Given the description of an element on the screen output the (x, y) to click on. 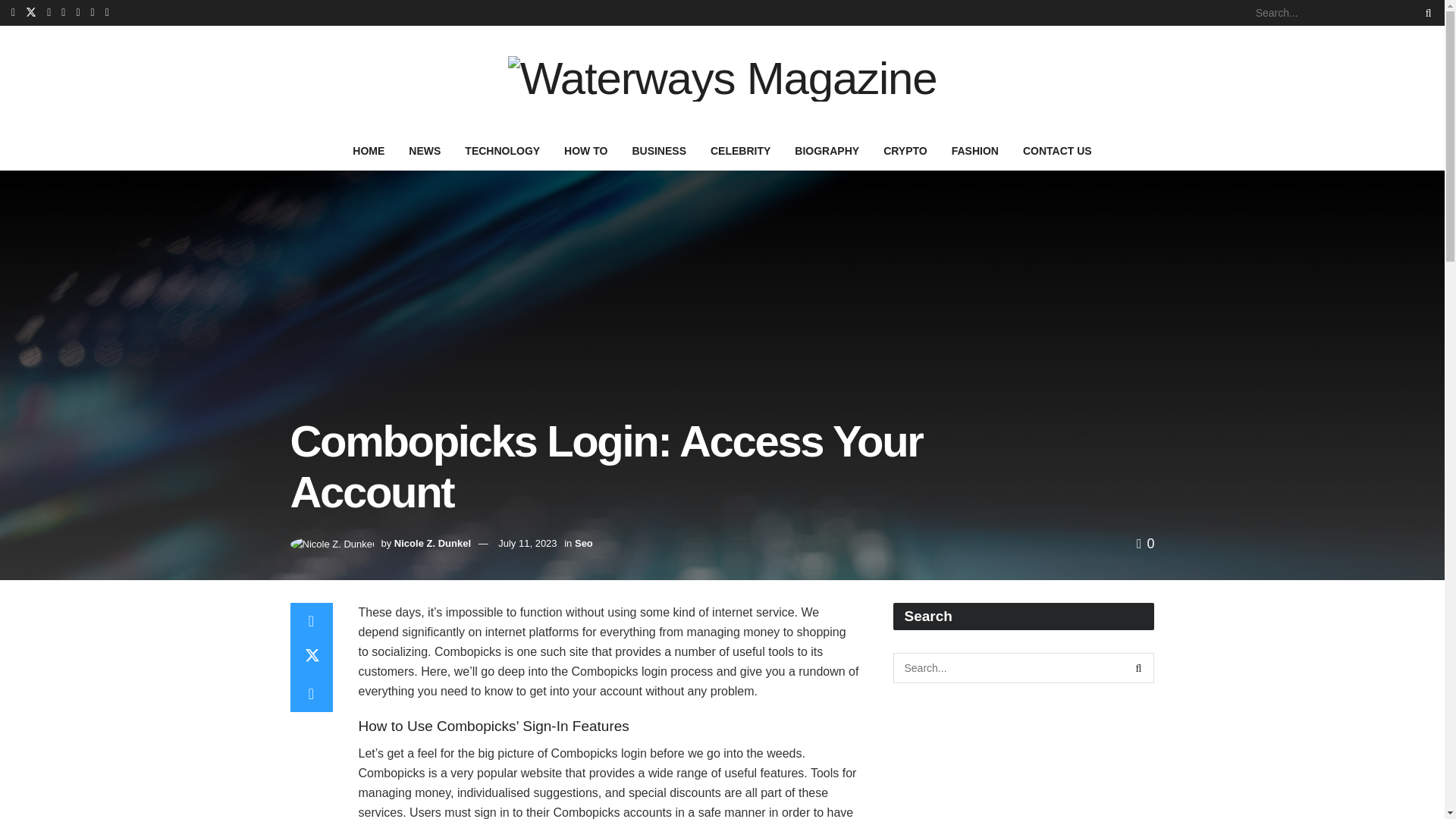
CELEBRITY (740, 150)
NEWS (424, 150)
0 (1145, 543)
BIOGRAPHY (826, 150)
Nicole Z. Dunkel (432, 542)
HOW TO (585, 150)
July 11, 2023 (526, 542)
CONTACT US (1056, 150)
FASHION (974, 150)
CRYPTO (904, 150)
HOME (368, 150)
Seo (583, 542)
BUSINESS (659, 150)
TECHNOLOGY (501, 150)
